Given the description of an element on the screen output the (x, y) to click on. 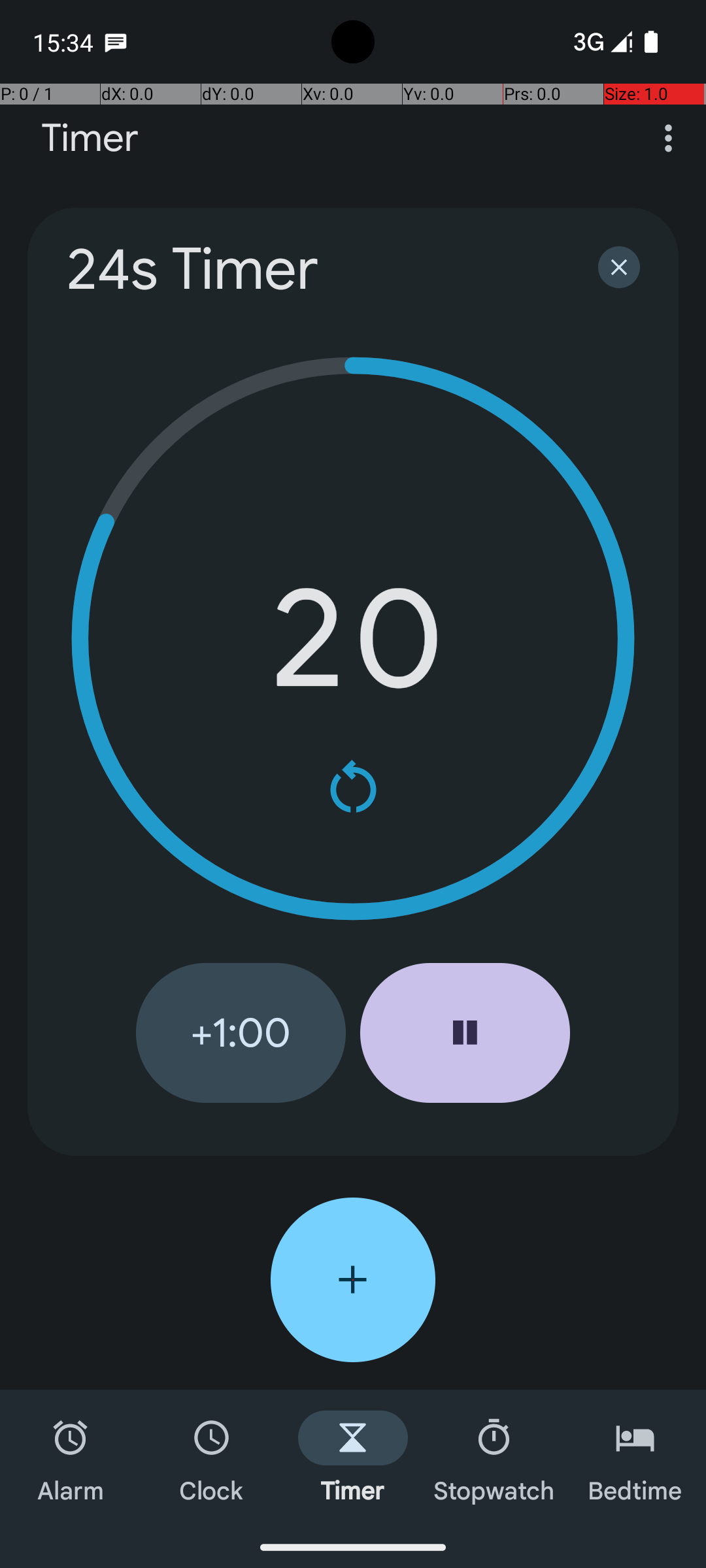
Add timer Element type: android.widget.Button (352, 1279)
24s Timer Element type: android.widget.TextView (315, 269)
+1:00 Element type: android.widget.Button (240, 1032)
